Given the description of an element on the screen output the (x, y) to click on. 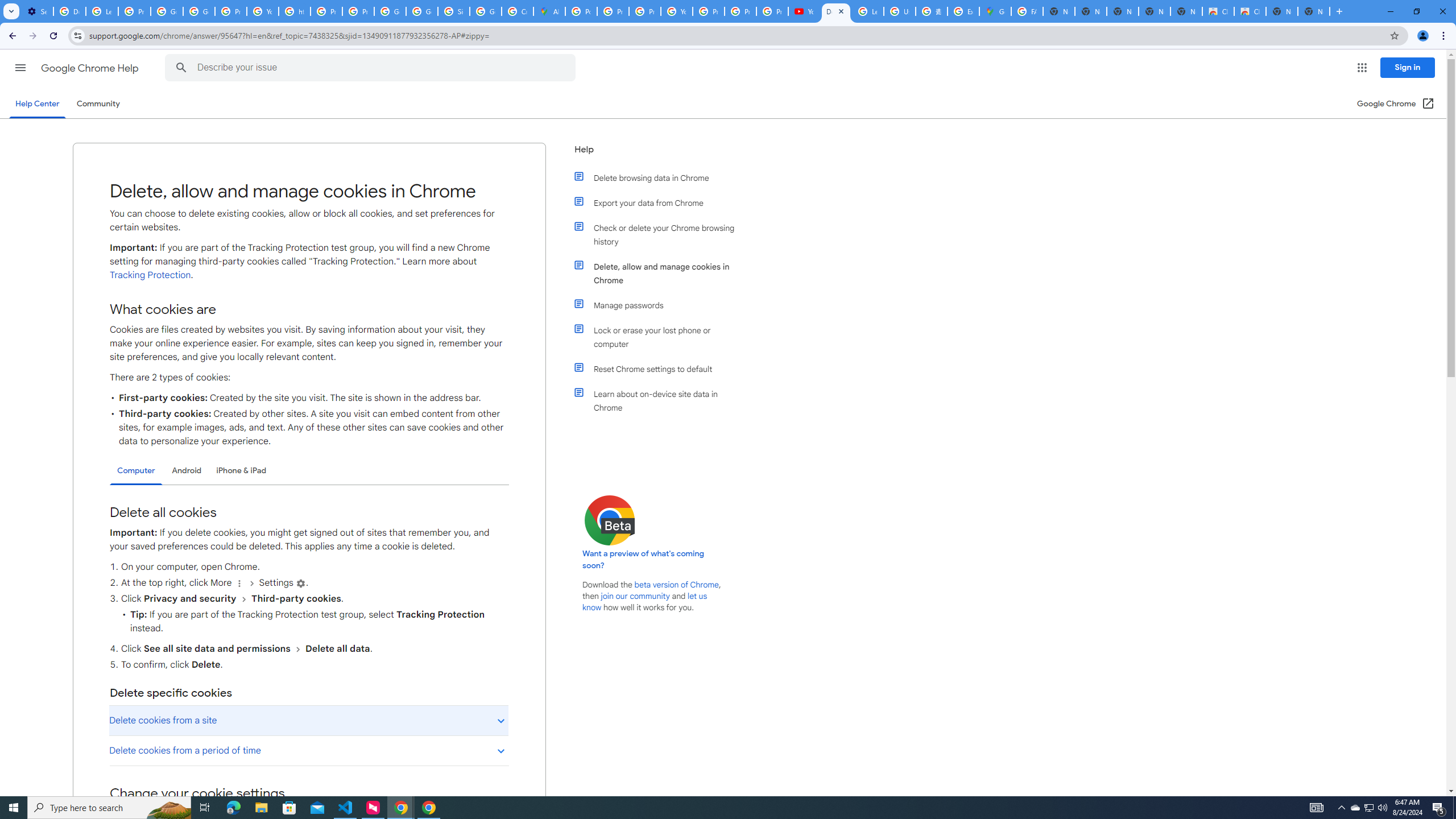
Lock or erase your lost phone or computer (661, 336)
https://scholar.google.com/ (294, 11)
Google Maps (995, 11)
Settings - On startup (37, 11)
Computer (136, 470)
Classic Blue - Chrome Web Store (1217, 11)
Learn how to find your photos - Google Photos Help (101, 11)
Delete browsing data in Chrome (661, 177)
beta version of Chrome (676, 584)
Delete, allow and manage cookies in Chrome (661, 273)
Android (186, 470)
